Given the description of an element on the screen output the (x, y) to click on. 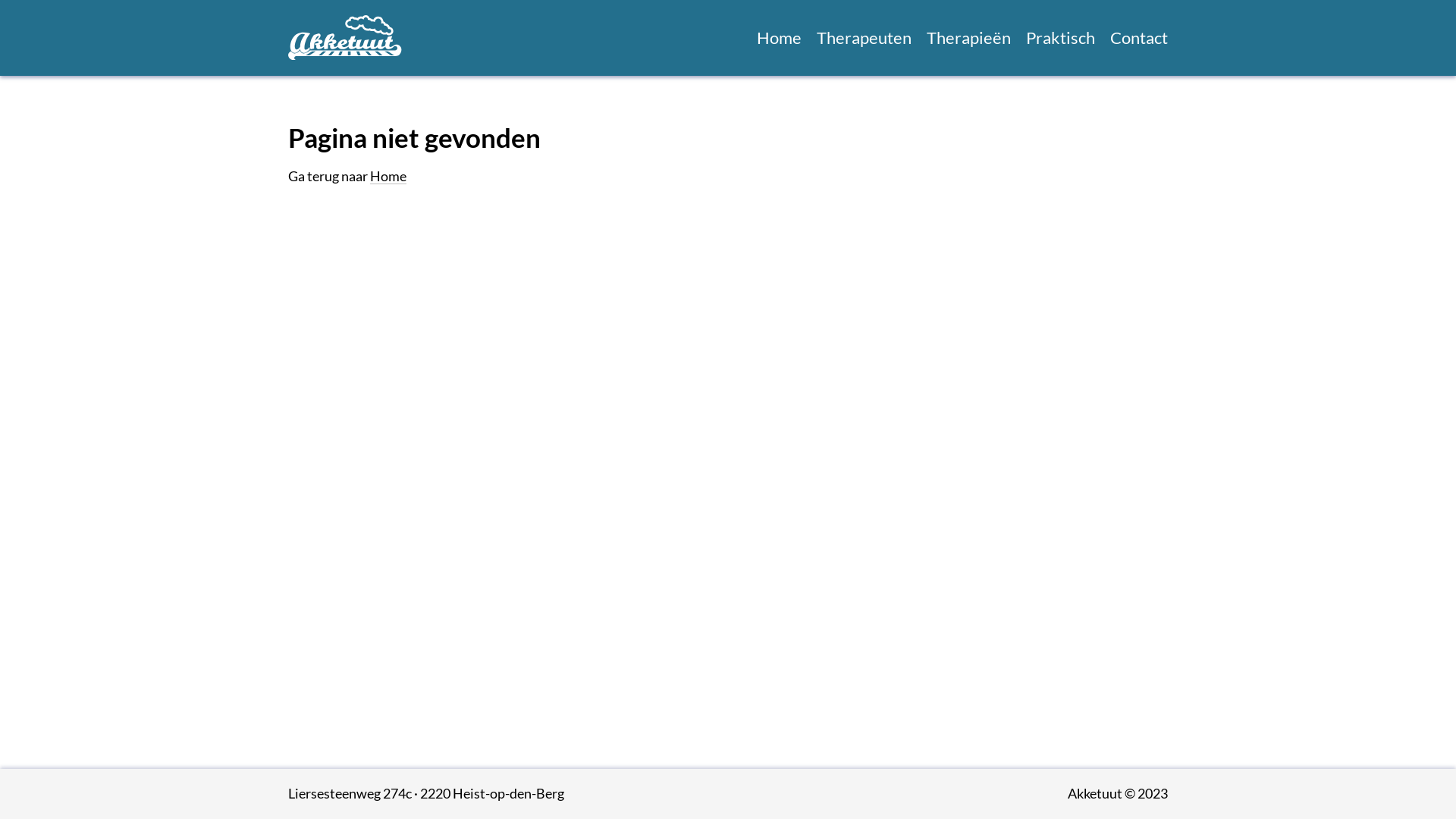
Praktisch Element type: text (1060, 37)
Therapeuten Element type: text (863, 37)
Home Element type: text (778, 37)
Akketuut Element type: text (344, 37)
Home Element type: text (388, 176)
Contact Element type: text (1138, 37)
